Given the description of an element on the screen output the (x, y) to click on. 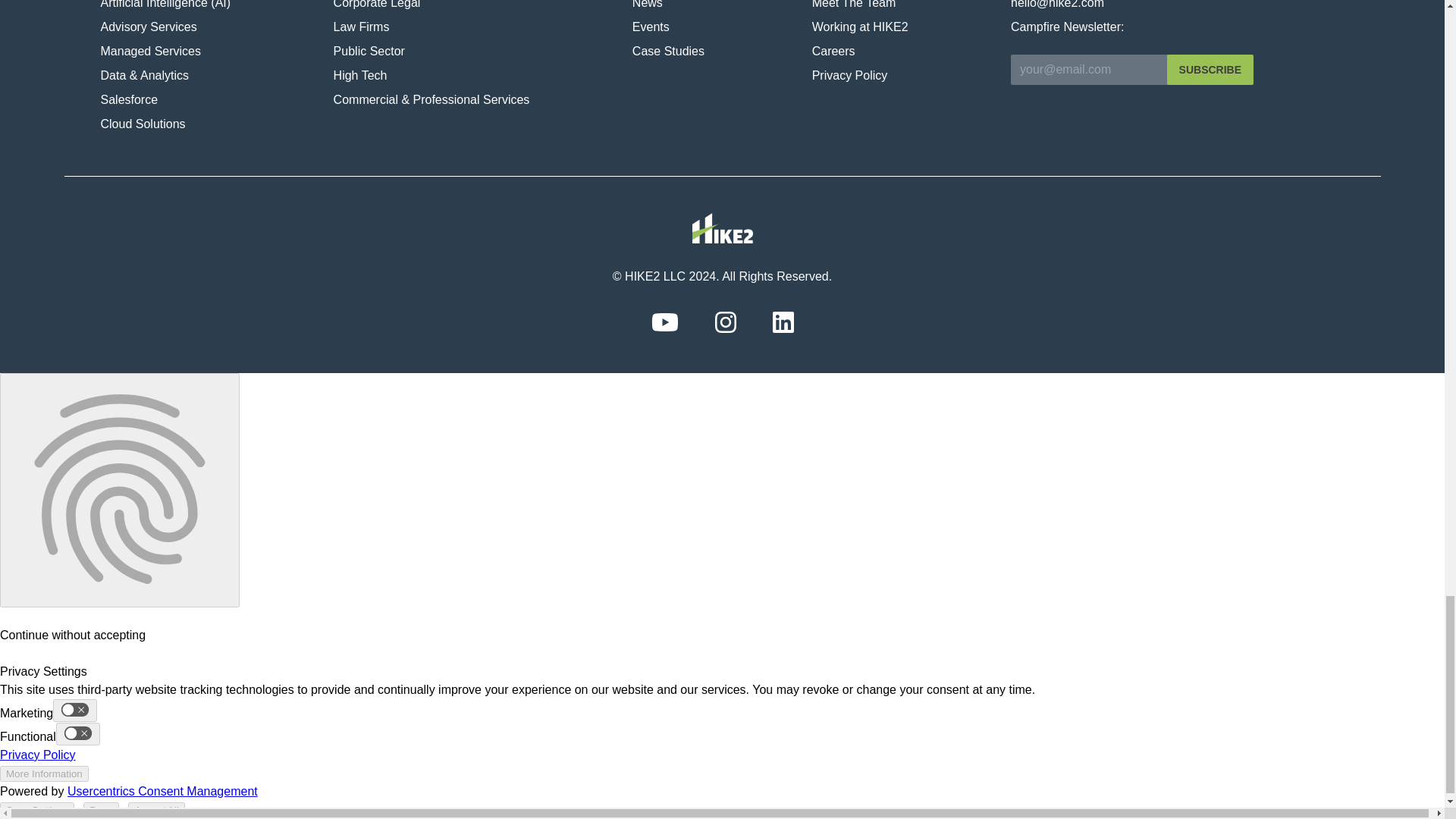
Advisory Services (210, 30)
Subscribe (1210, 69)
